Given the description of an element on the screen output the (x, y) to click on. 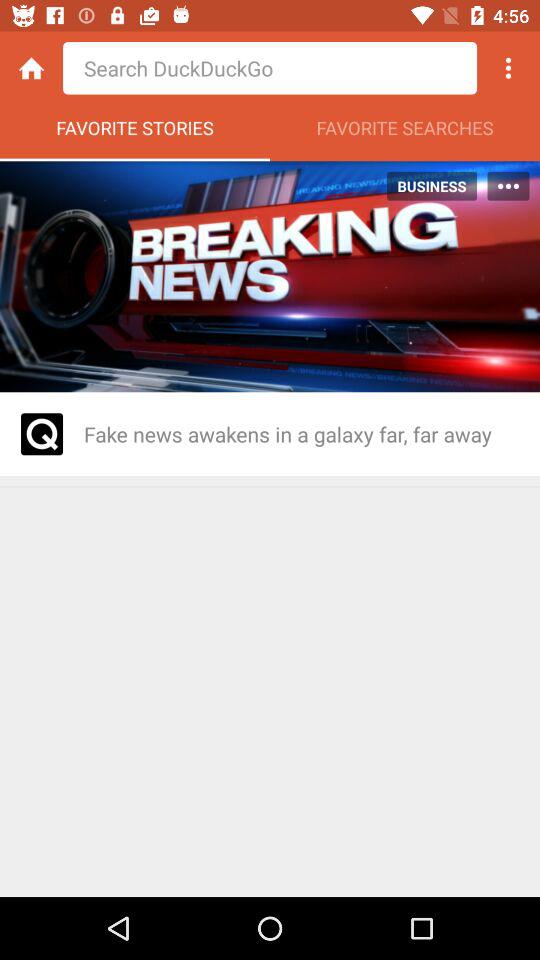
press favorite searches app (405, 133)
